Given the description of an element on the screen output the (x, y) to click on. 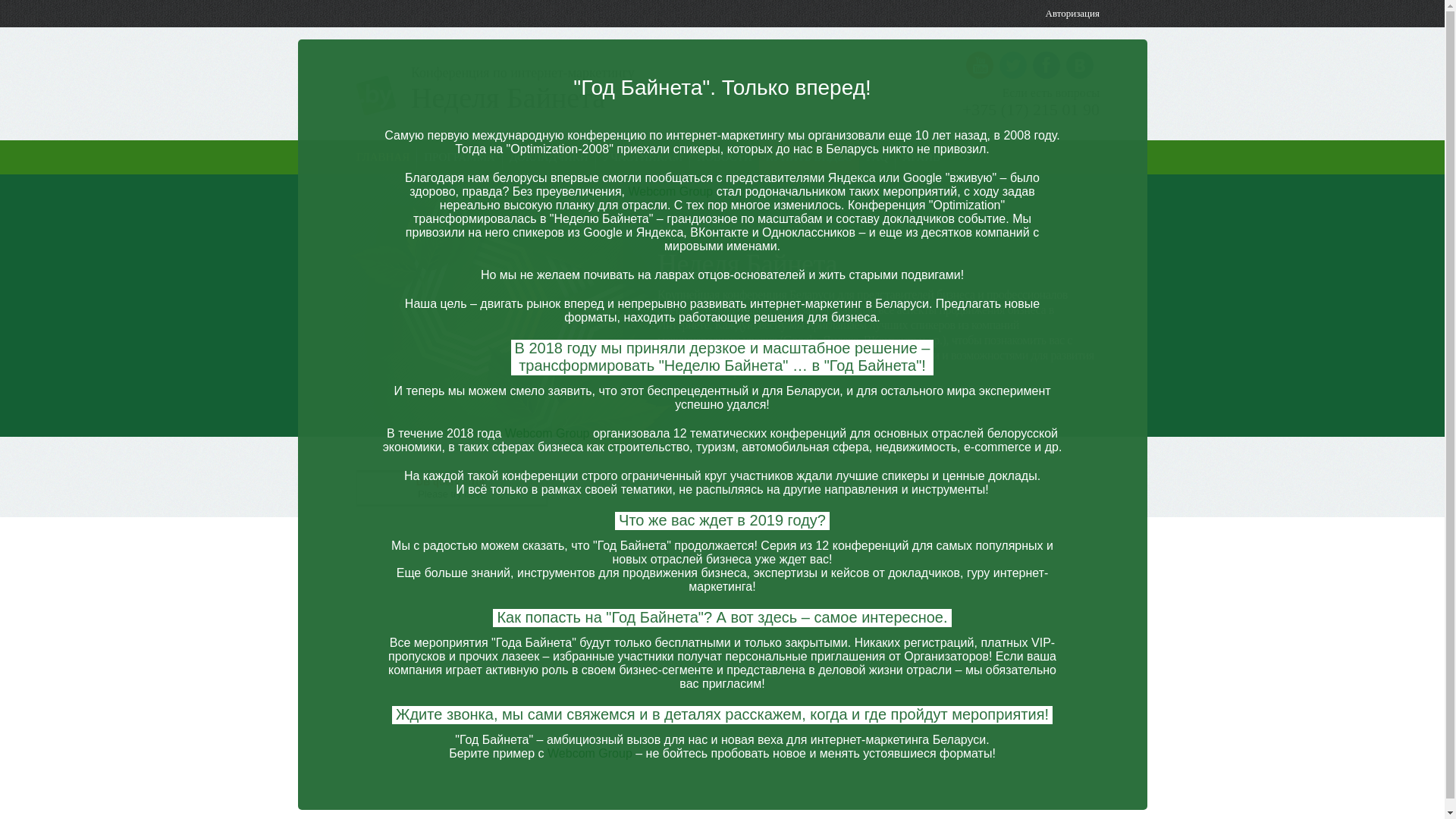
FAQ Element type: text (877, 156)
Webcom Group Element type: text (547, 432)
Webcom Group Element type: text (589, 752)
+375 (17) 215 01 90 Element type: text (1030, 109)
Webcom Group Element type: text (669, 191)
